Given the description of an element on the screen output the (x, y) to click on. 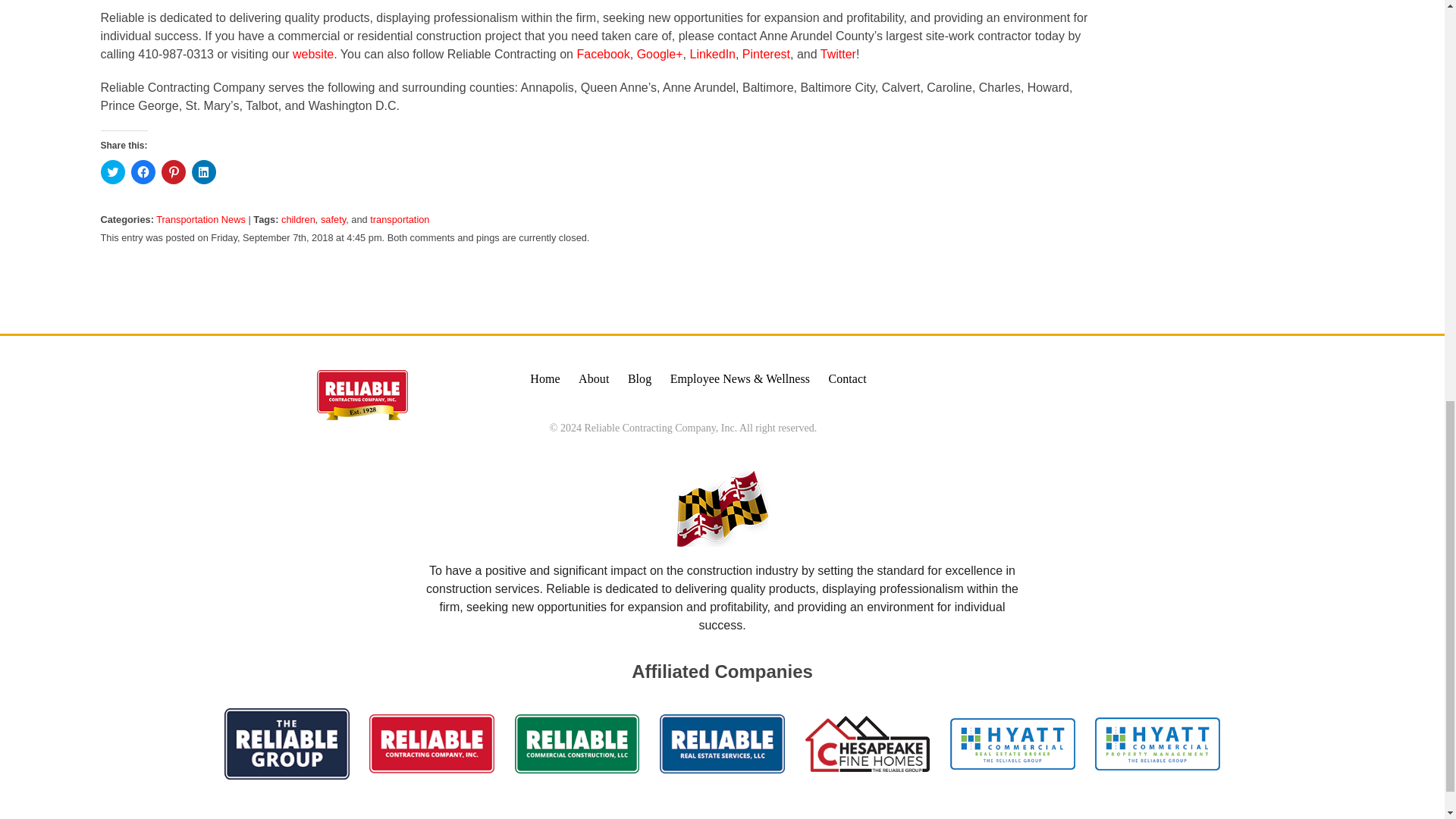
Click to share on Facebook (142, 171)
Click to share on LinkedIn (202, 171)
Maryland Flag (722, 508)
Click to share on Twitter (111, 171)
Click to share on Pinterest (172, 171)
Reliable Contracting Company, Inc. Logo (362, 395)
